Given the description of an element on the screen output the (x, y) to click on. 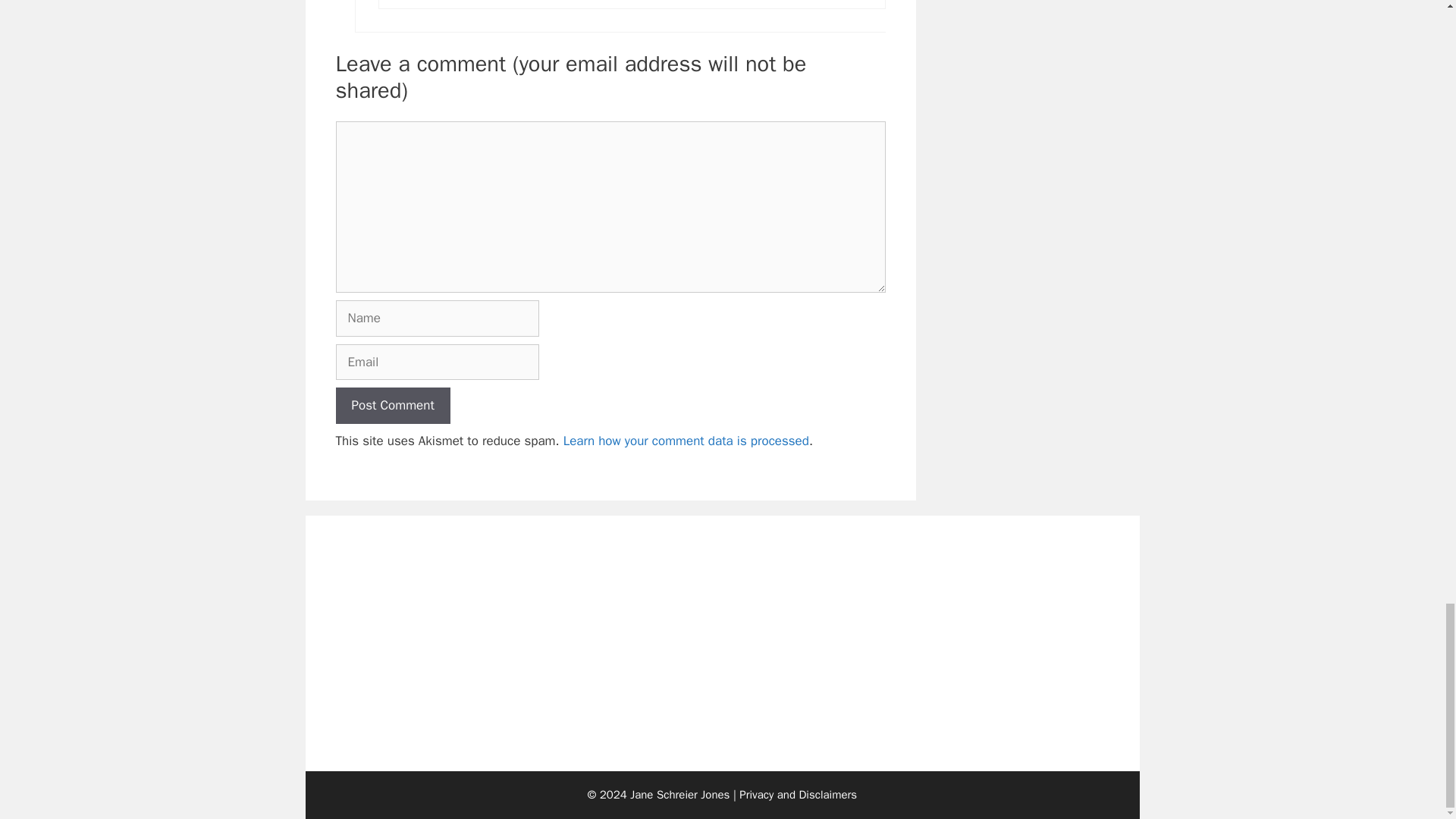
Privacy and Disclaimers (798, 794)
Learn how your comment data is processed (686, 440)
Post Comment (391, 405)
Post Comment (391, 405)
